Given the description of an element on the screen output the (x, y) to click on. 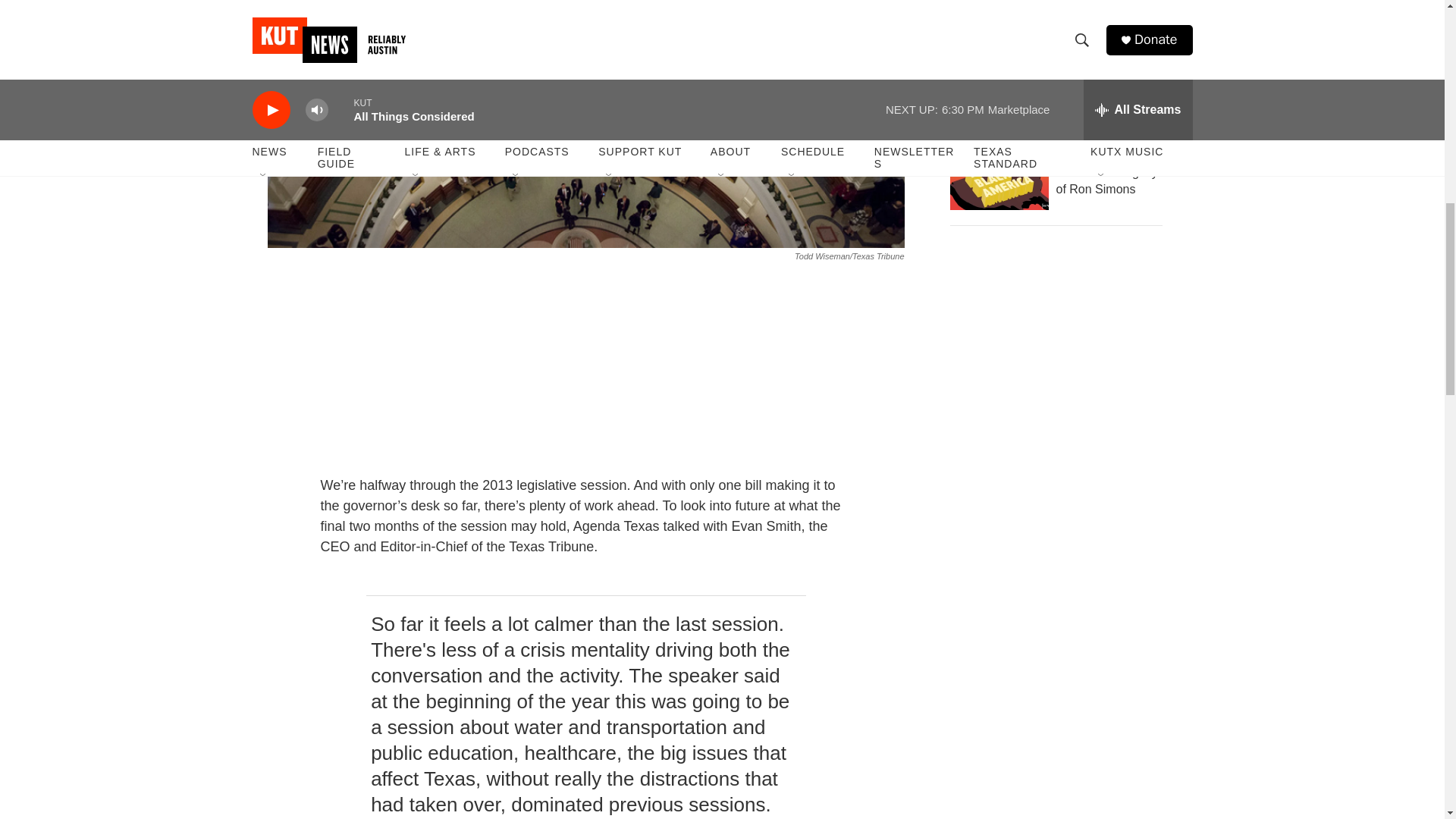
3rd party ad content (1062, 350)
3rd party ad content (365, 570)
